Given the description of an element on the screen output the (x, y) to click on. 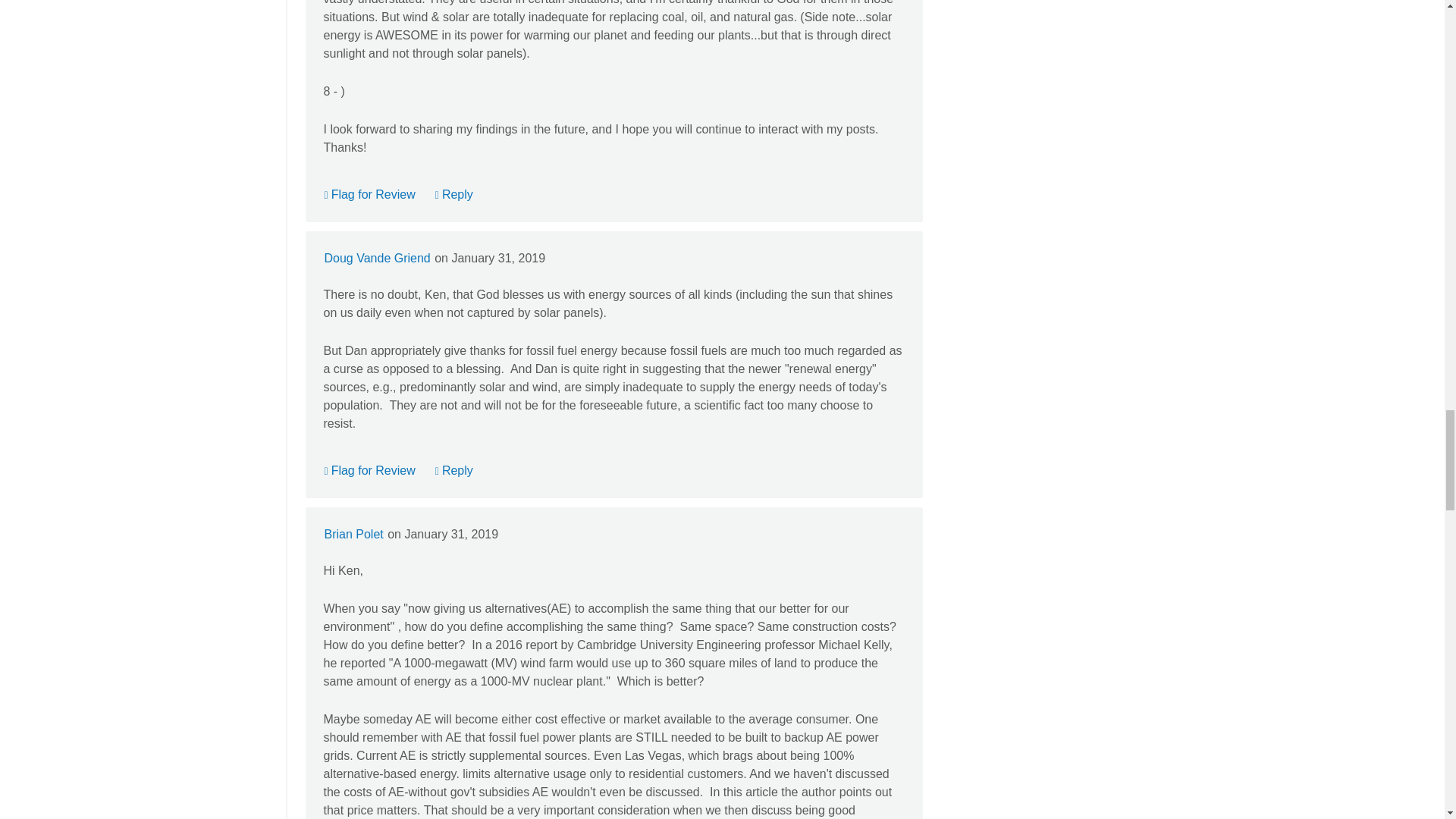
View user profile. (353, 534)
View user profile. (376, 257)
